Given the description of an element on the screen output the (x, y) to click on. 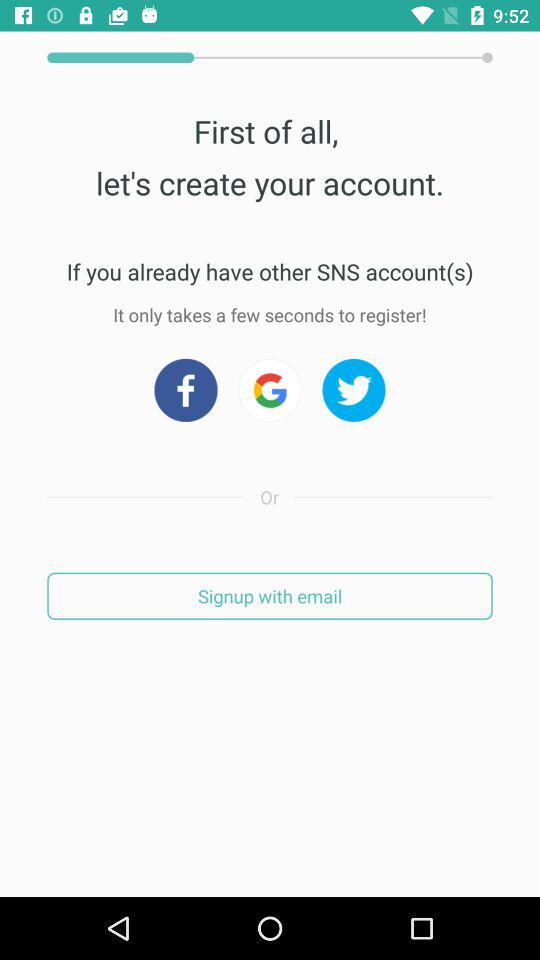
go twitter credentials (353, 389)
